Given the description of an element on the screen output the (x, y) to click on. 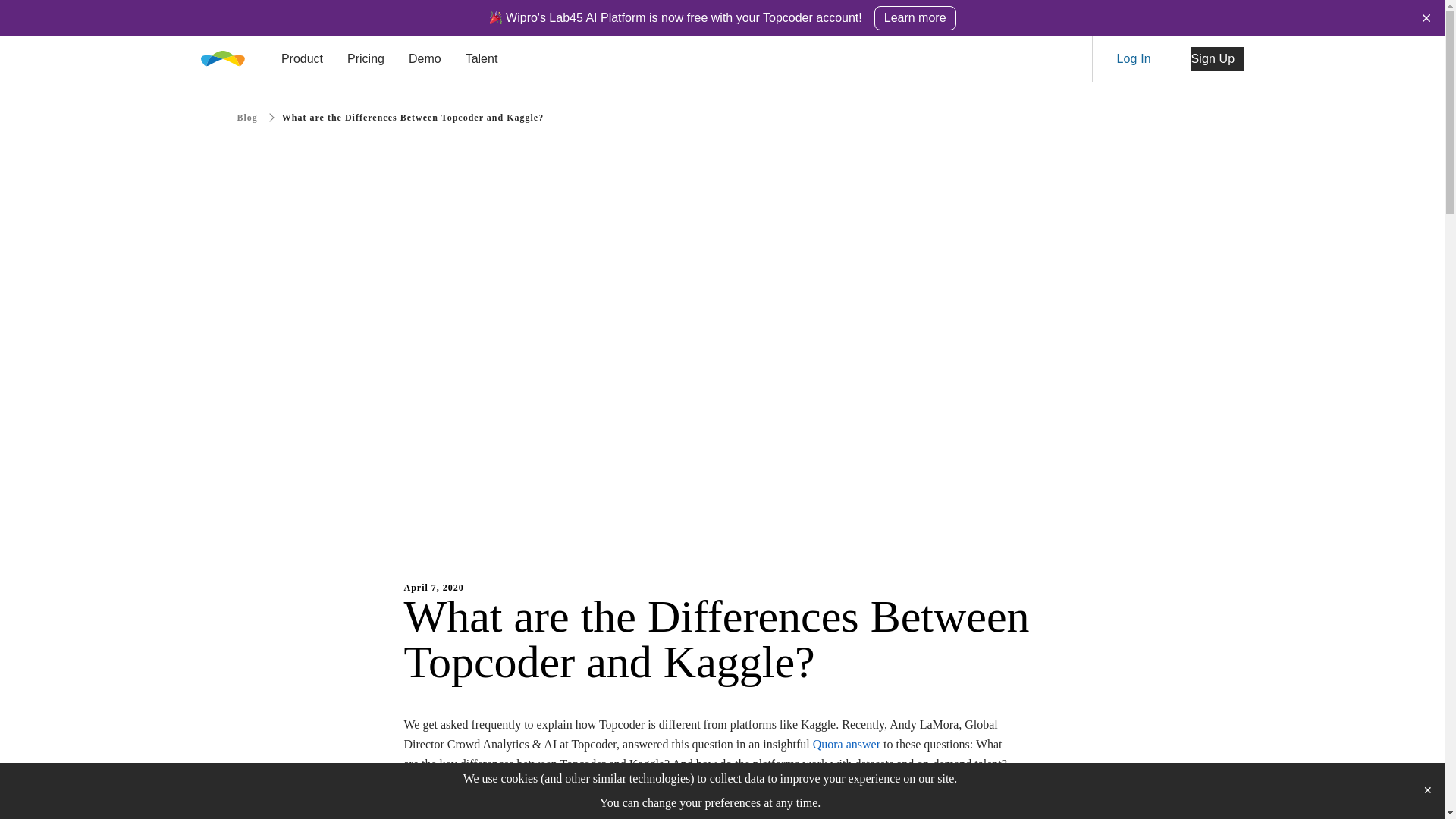
You can change your preferences at any time. (710, 803)
Learn more (915, 17)
Talent (481, 58)
Demo (425, 58)
Accept policy (1427, 790)
Blog (258, 117)
Product (302, 58)
Log In (1142, 58)
Quora answer (846, 744)
Sign Up (1217, 58)
Pricing (365, 58)
